Given the description of an element on the screen output the (x, y) to click on. 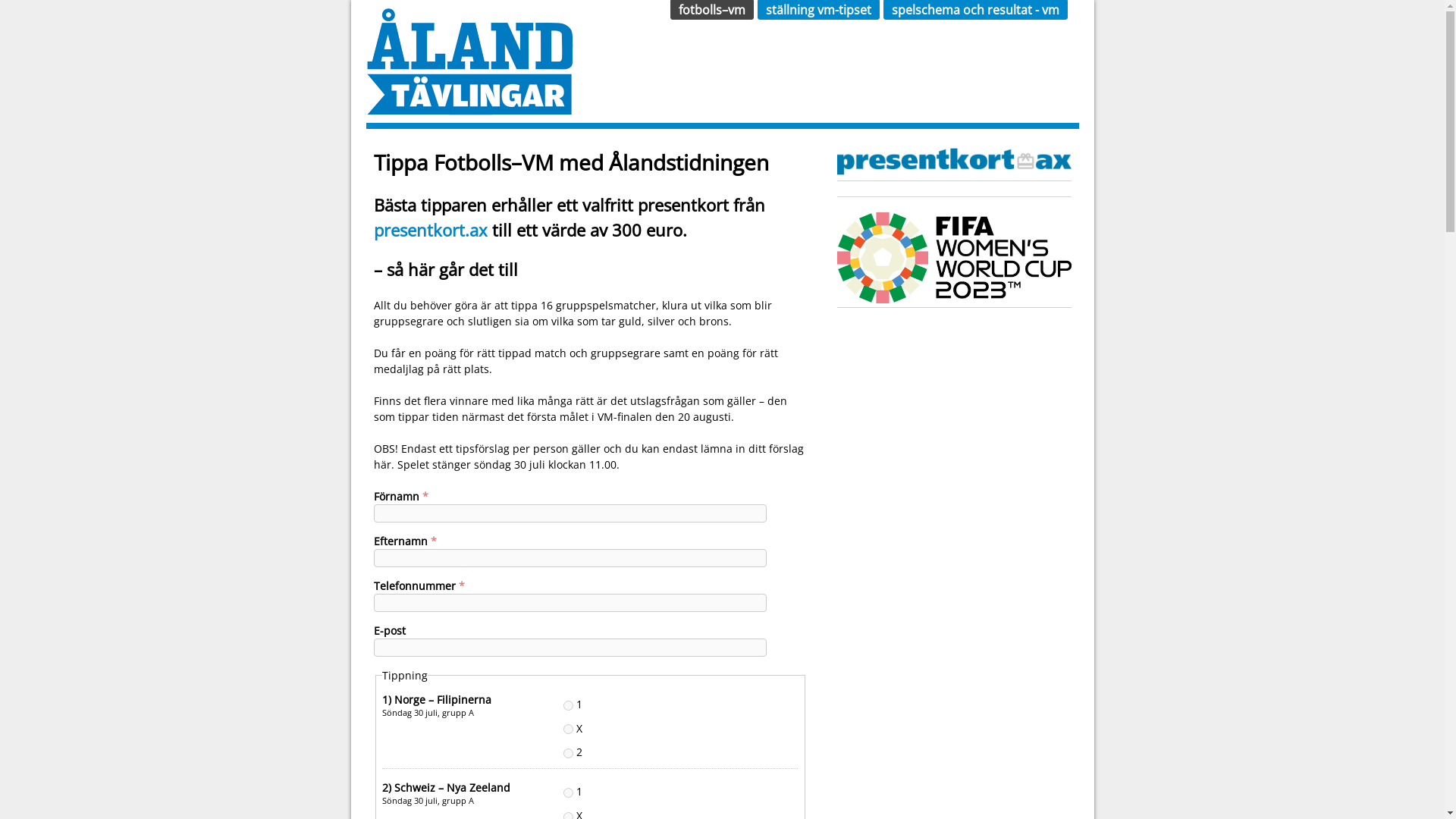
Hemsida Element type: hover (468, 107)
presentkort.ax Element type: text (429, 229)
